Given the description of an element on the screen output the (x, y) to click on. 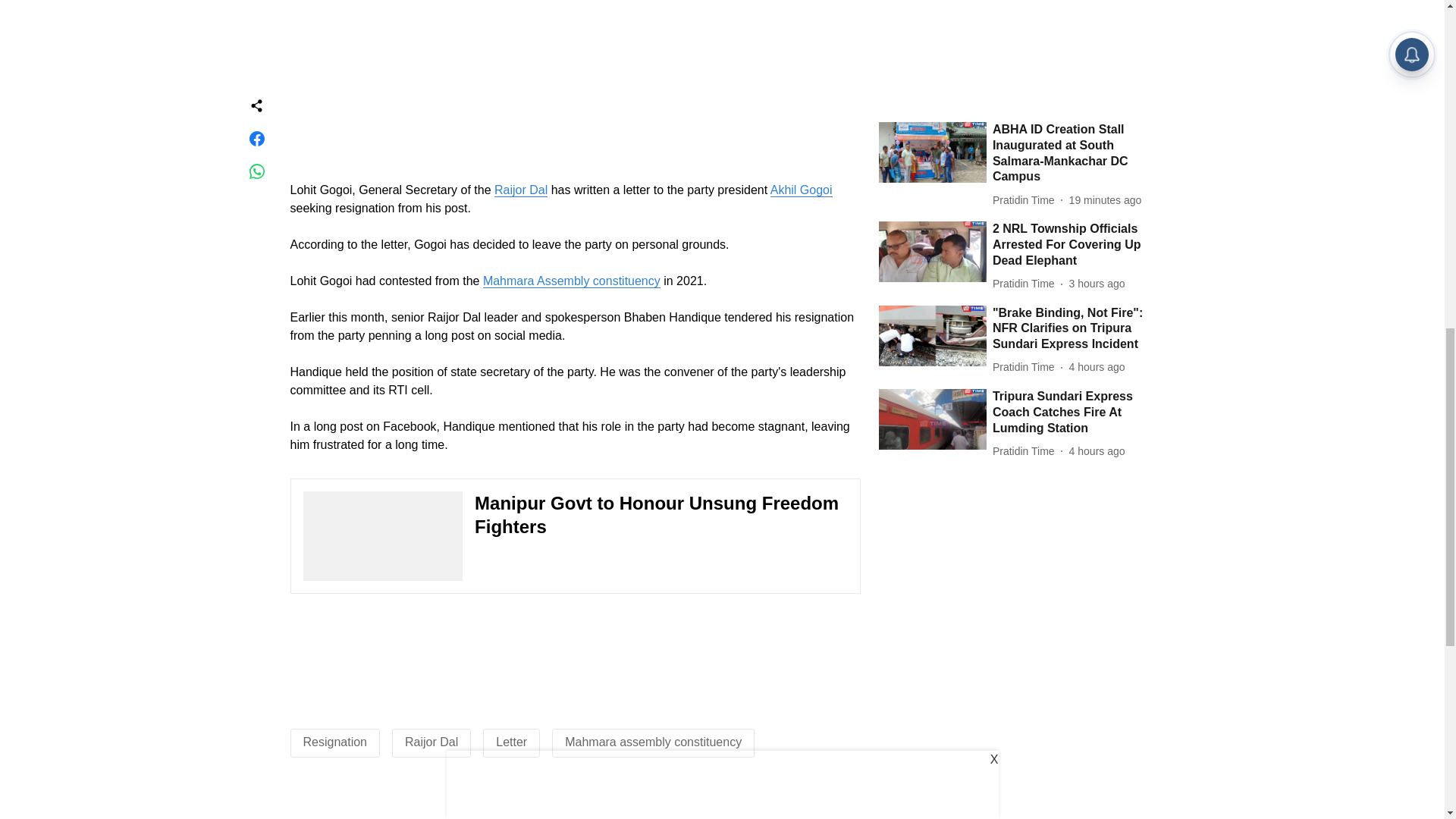
Raijor Dal (521, 190)
2024-07-24 12:19 (1096, 287)
Manipur Govt to Honour Unsung Freedom Fighters (574, 535)
2024-07-24 16:23 (1104, 36)
3rd party ad content (574, 658)
2024-07-24 12:38 (1096, 203)
2024-07-24 13:30 (1096, 119)
Mahmara Assembly constituency (572, 281)
Resignation (335, 741)
3rd party ad content (574, 75)
Raijor Dal (431, 741)
3rd party ad content (721, 803)
Akhil Gogoi (801, 190)
